Given the description of an element on the screen output the (x, y) to click on. 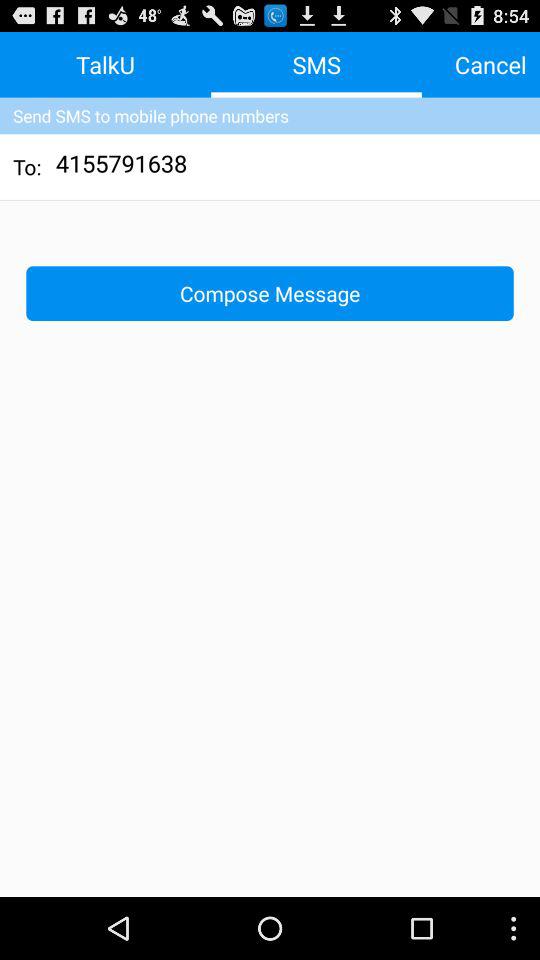
press the app to the left of sms app (105, 64)
